Given the description of an element on the screen output the (x, y) to click on. 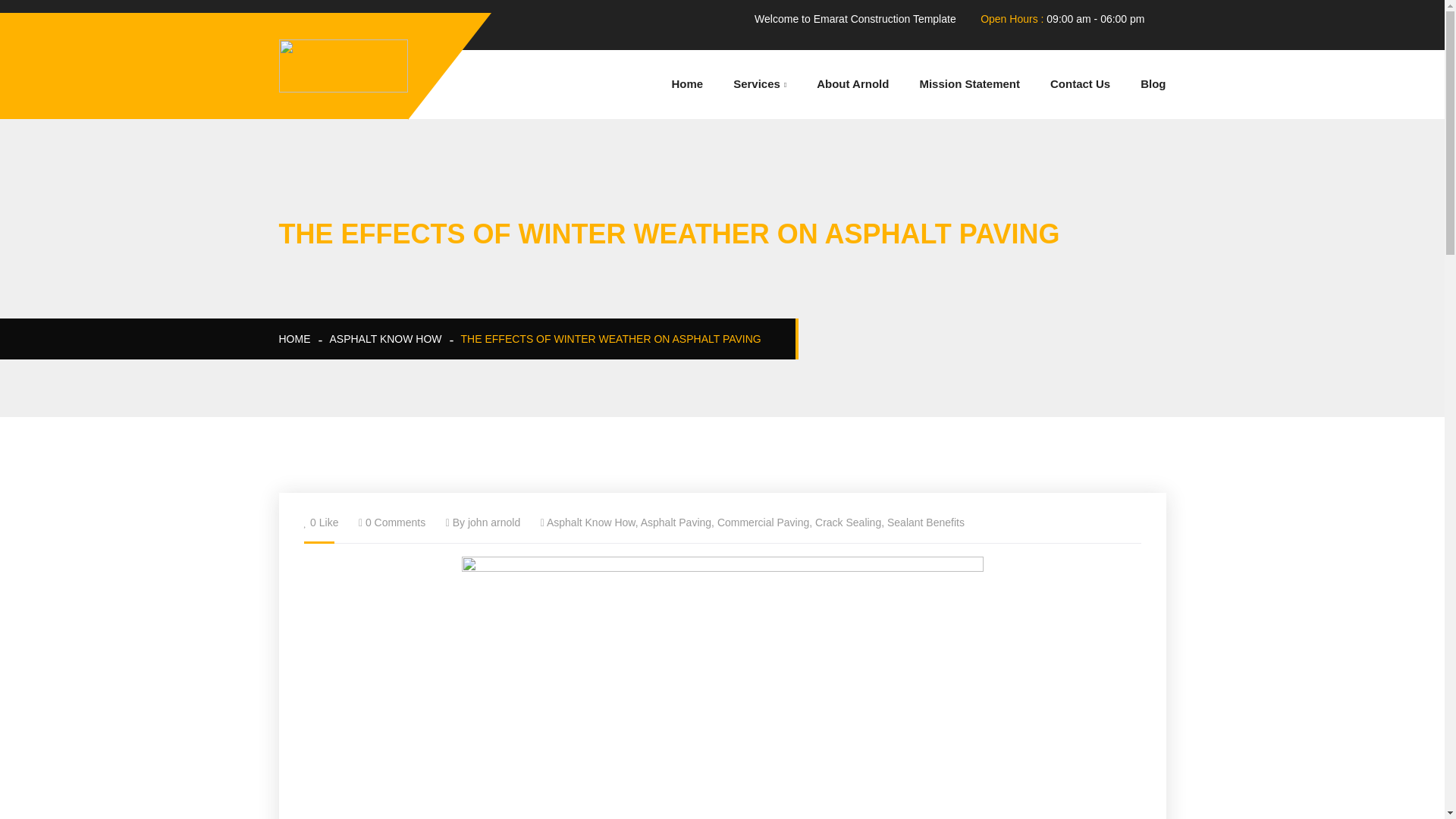
HOME (295, 338)
0 Like (323, 522)
Asphalt Know How (590, 522)
Sealant Benefits (924, 522)
Asphalt Paving (675, 522)
Commercial Paving (763, 522)
Mission Statement (969, 83)
ASPHALT KNOW HOW (385, 338)
Crack Sealing (847, 522)
About Arnold (852, 83)
